Given the description of an element on the screen output the (x, y) to click on. 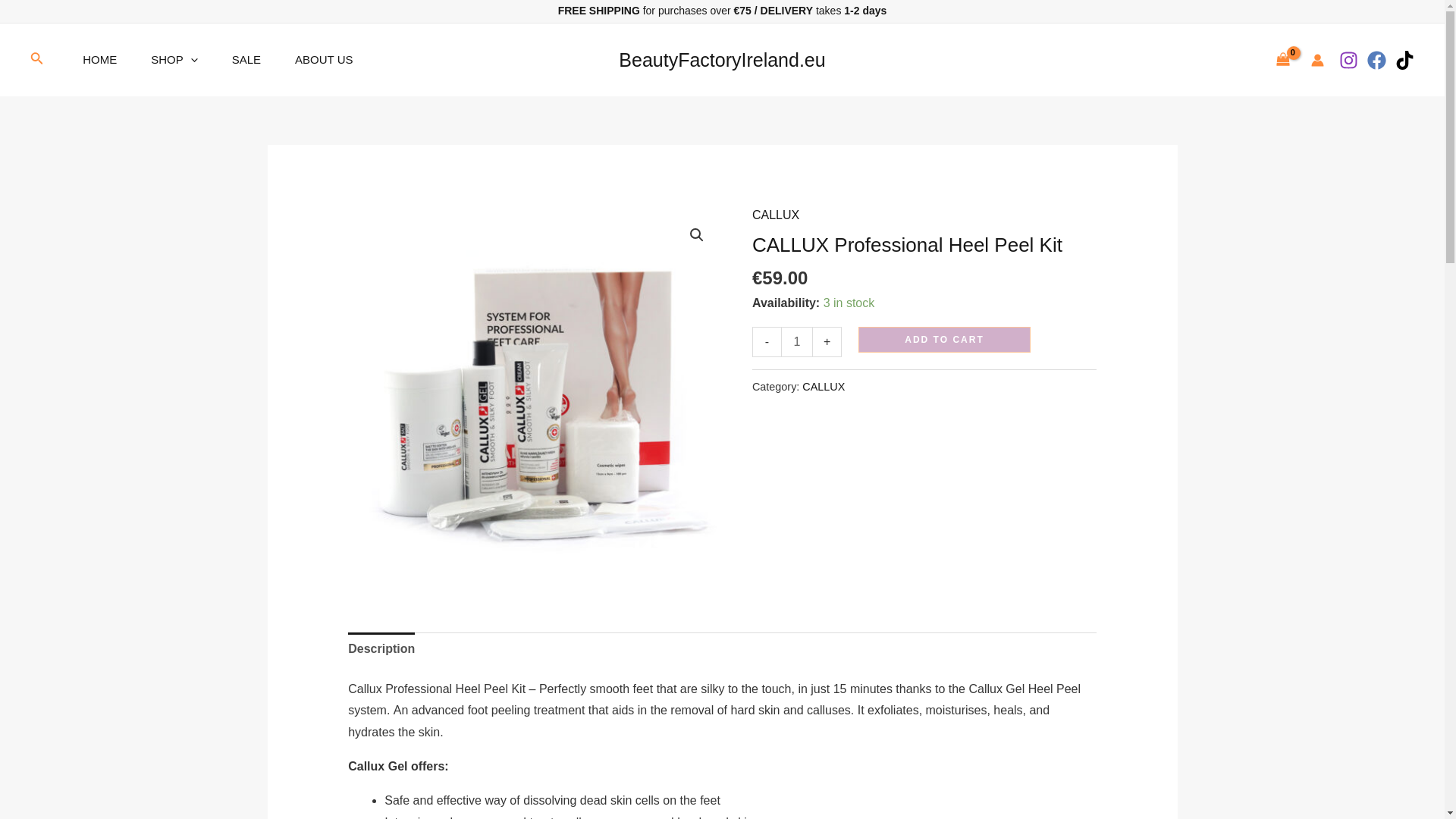
SHOP (180, 59)
HOME (105, 59)
1 (796, 341)
